Given the description of an element on the screen output the (x, y) to click on. 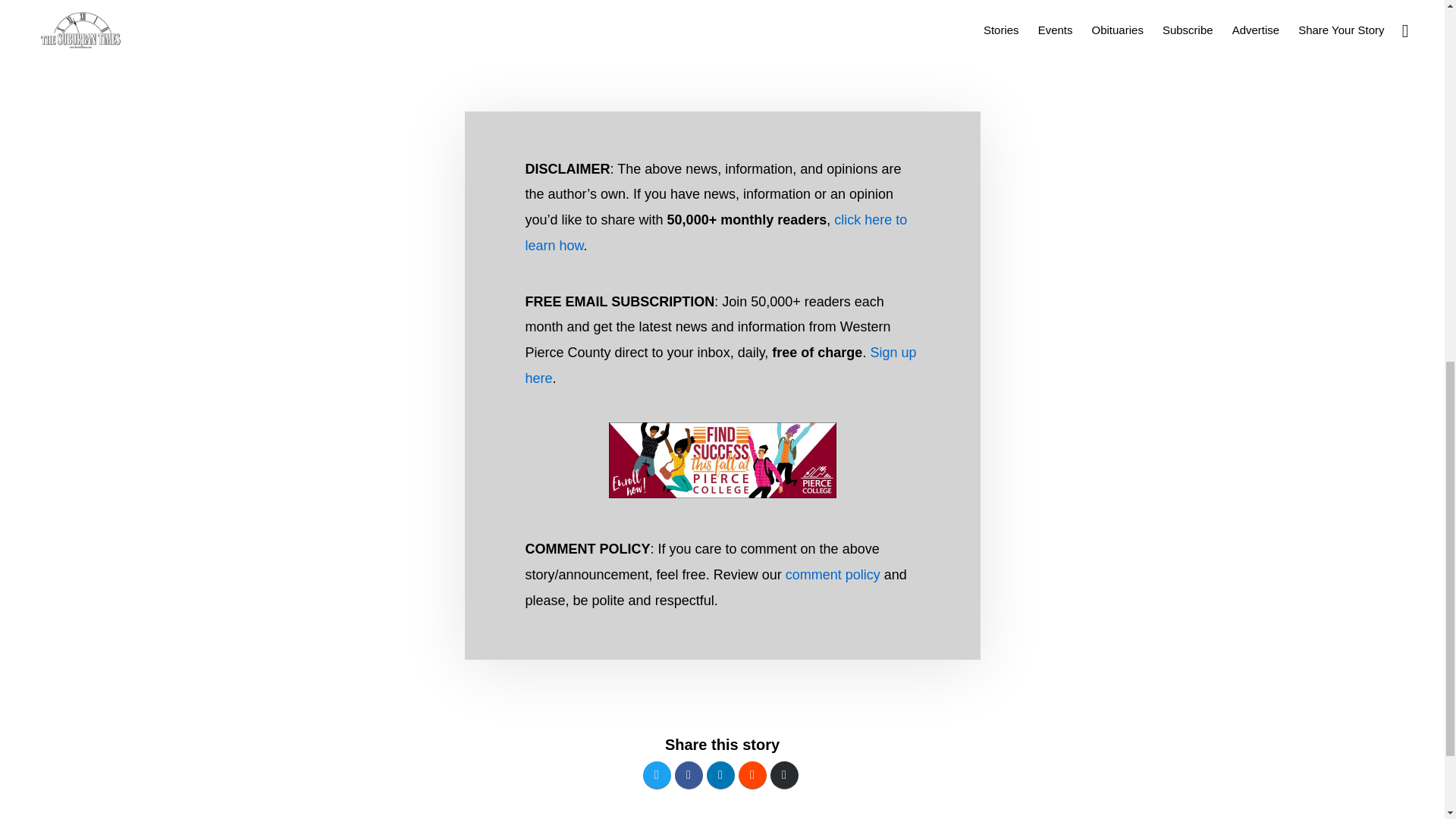
comment policy (833, 574)
ADVERTISE (526, 46)
Share on Reddit (752, 775)
Share on Twitter (657, 775)
Sign up here (719, 364)
ABOUT TST (452, 46)
COMMENT POLICY (616, 46)
Share on LinkedIn (720, 775)
Share on Reddit (752, 775)
CONTACT (704, 46)
Log in (815, 20)
Share on Facebook (689, 775)
SUBSCRIBE (773, 46)
click here to learn how (715, 232)
Share via Email (783, 775)
